Given the description of an element on the screen output the (x, y) to click on. 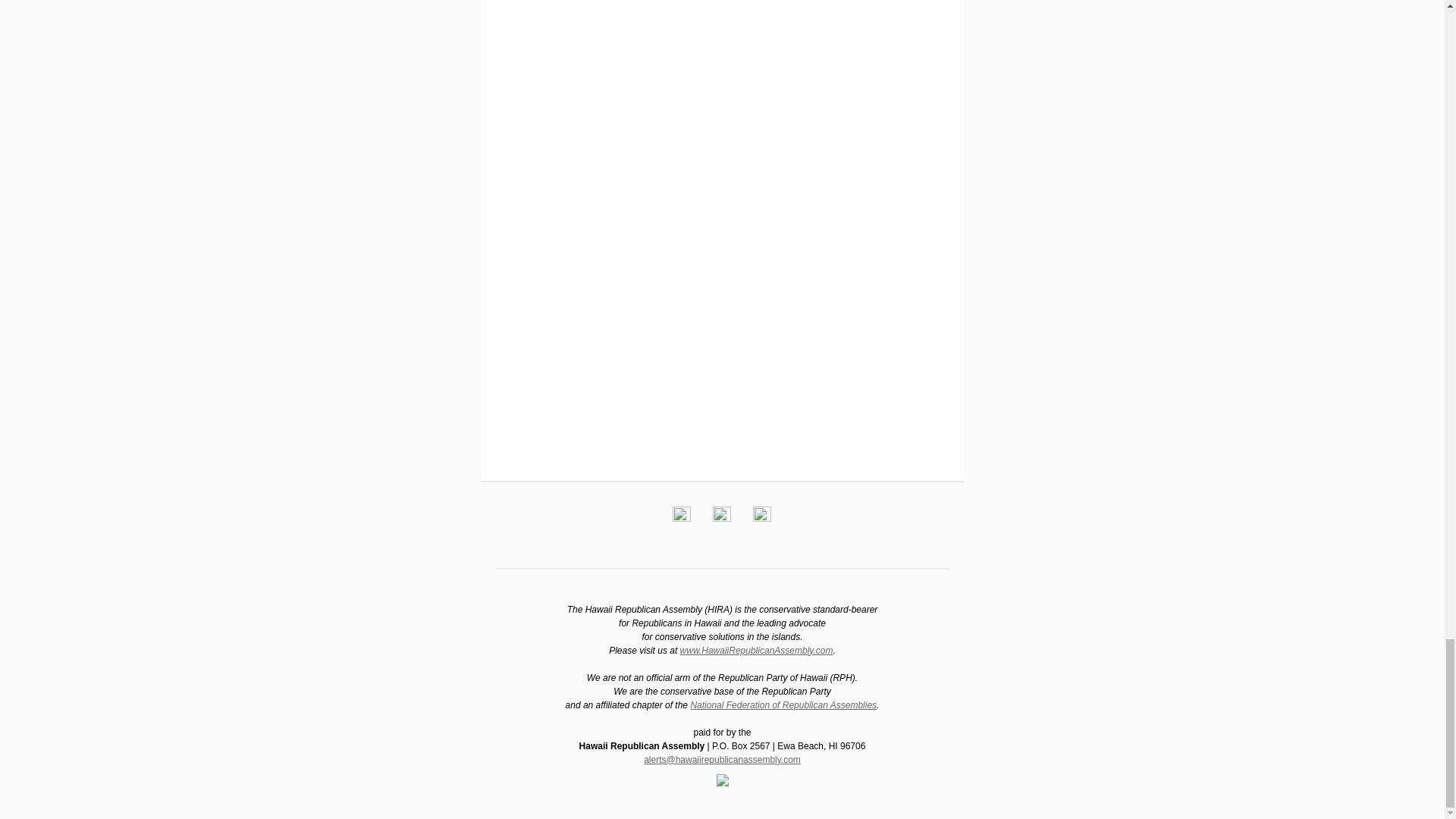
NFRA (783, 705)
www.HawaiiRepublicanAssembly.com (755, 650)
HIRA (755, 650)
National Federation of Republican Assemblies (783, 705)
